Given the description of an element on the screen output the (x, y) to click on. 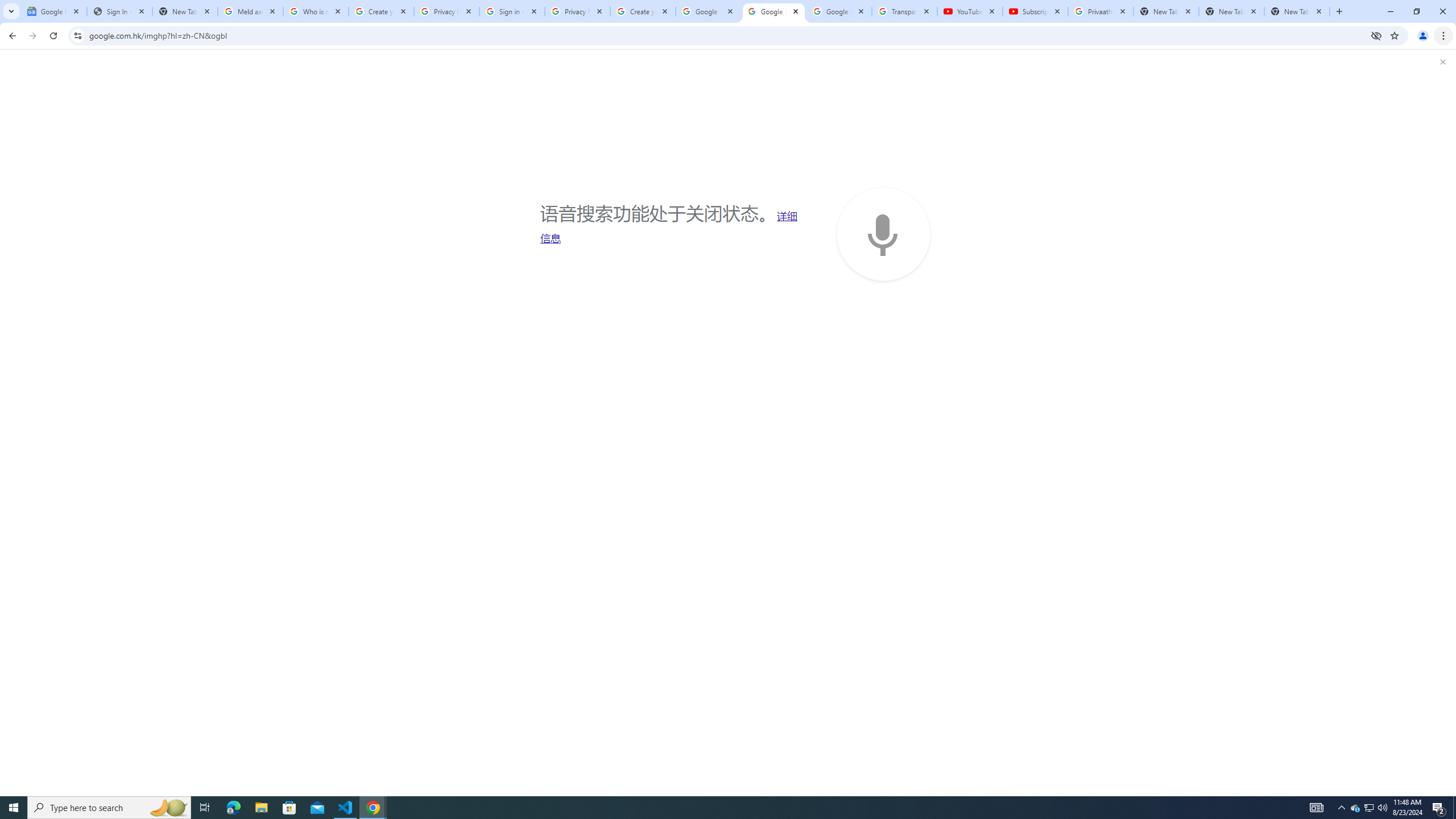
Who is my administrator? - Google Account Help (315, 11)
New Tab (1297, 11)
